Given the description of an element on the screen output the (x, y) to click on. 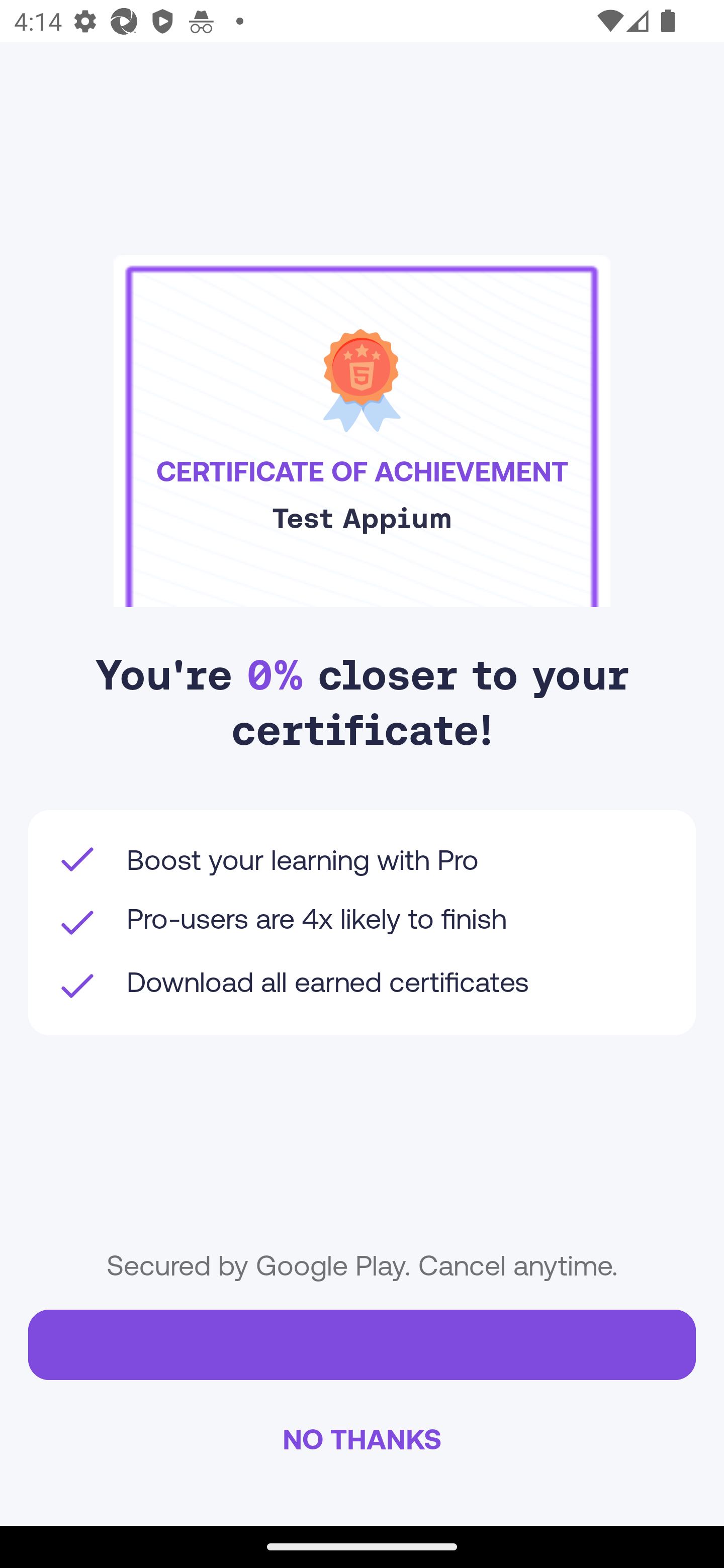
NO THANKS (361, 1438)
